Given the description of an element on the screen output the (x, y) to click on. 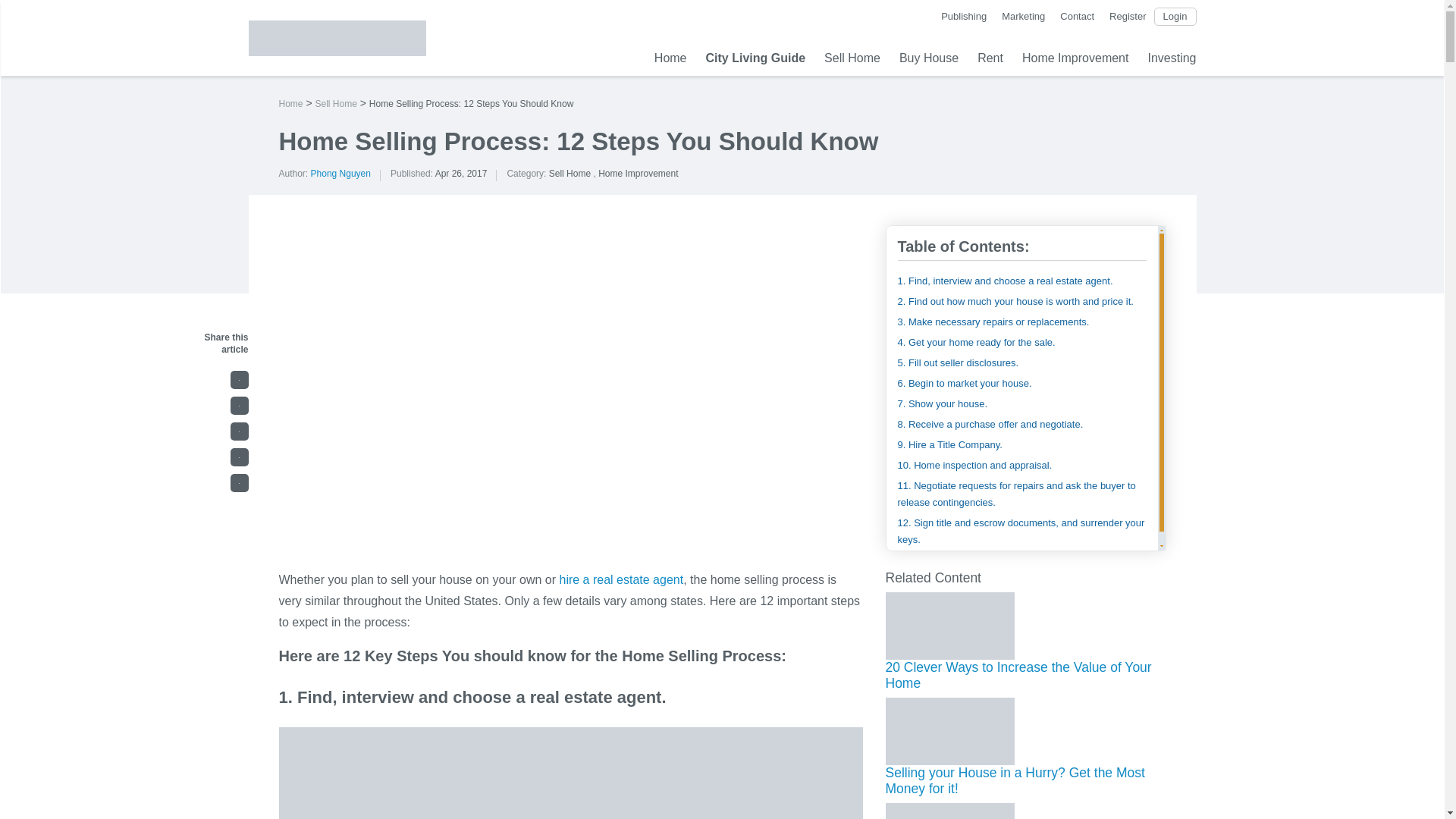
Home Improvement (638, 173)
Rent (989, 57)
HOMEiA (337, 37)
Sell Home (852, 57)
Buy House (928, 57)
Register (1127, 16)
Sell Home (569, 173)
Publishing (963, 16)
Login (1175, 17)
Home Improvement (1075, 57)
